Given the description of an element on the screen output the (x, y) to click on. 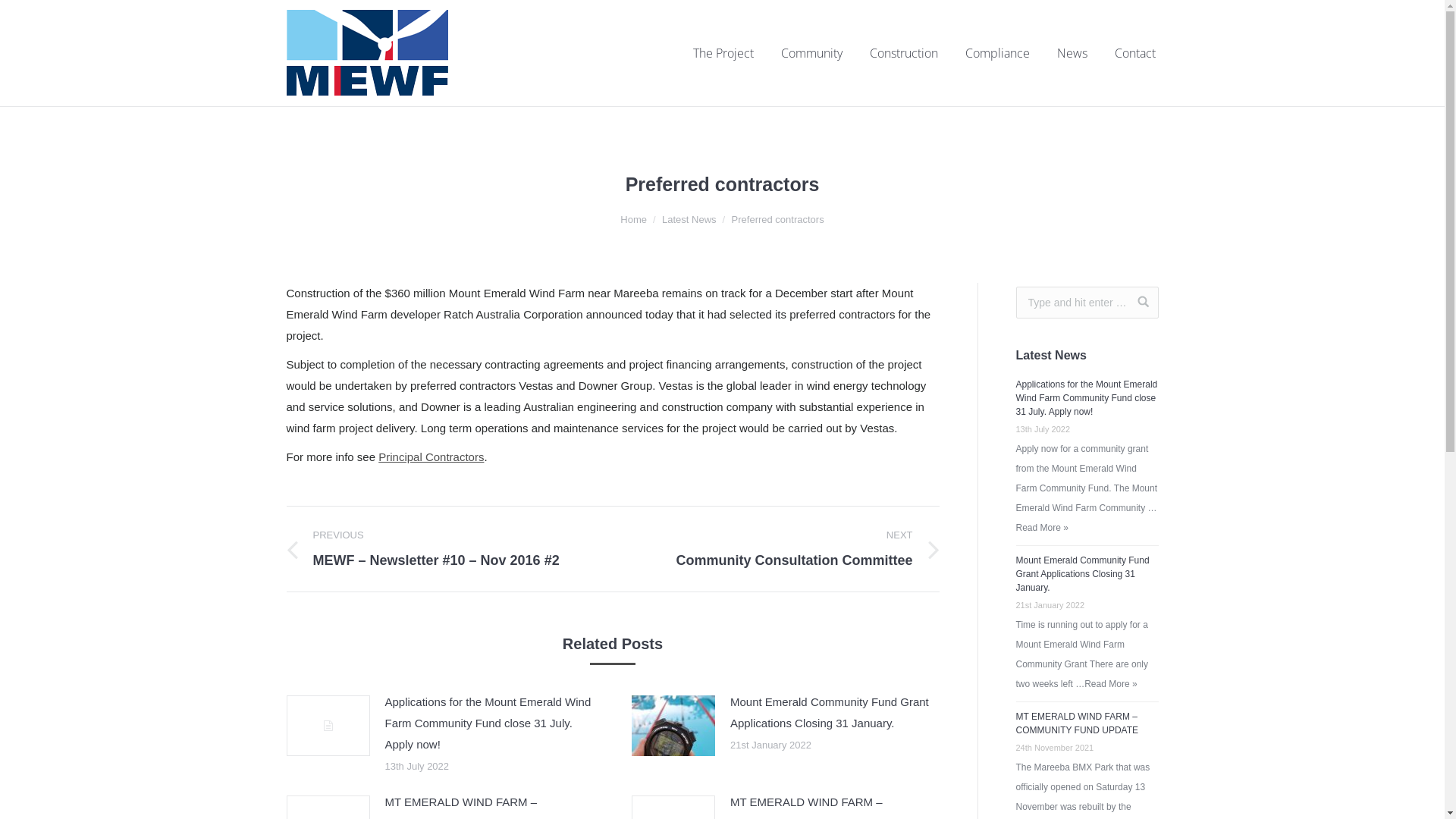
Home Element type: text (633, 219)
The Project Element type: text (723, 52)
Latest News Element type: text (689, 219)
NEXT
Next post:
Community Consultation Committee Element type: text (787, 548)
Community Element type: text (811, 52)
Construction Element type: text (903, 52)
Principal Contractors Element type: text (430, 456)
News Element type: text (1072, 52)
Contact Element type: text (1134, 52)
Compliance Element type: text (996, 52)
Go! Element type: text (1137, 301)
